Given the description of an element on the screen output the (x, y) to click on. 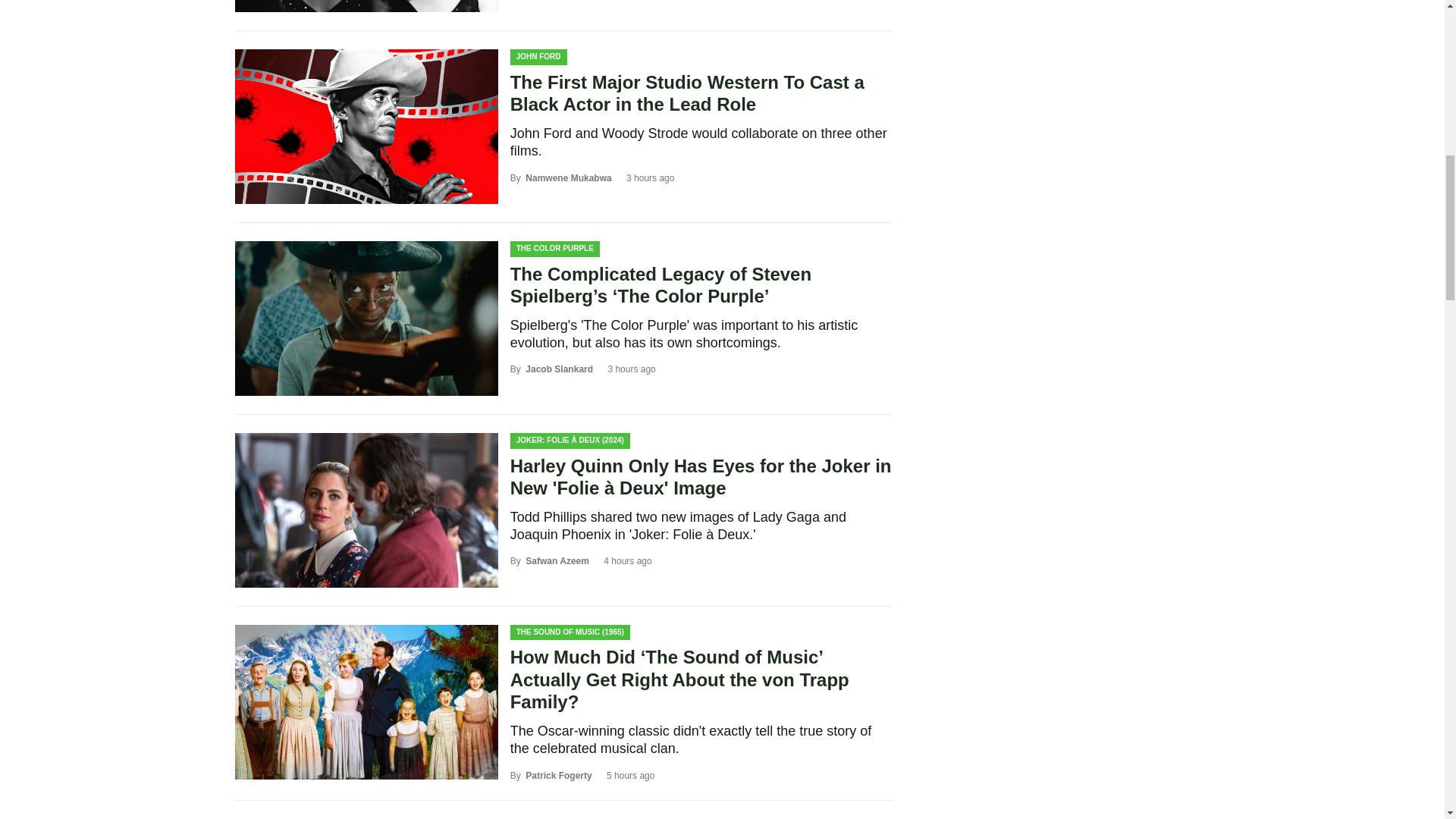
Posts by Patrick Fogerty (558, 775)
Posts by Jacob Slankard  (560, 368)
Posts by Namwene Mukabwa (568, 177)
Posts by Safwan Azeem (557, 561)
